Given the description of an element on the screen output the (x, y) to click on. 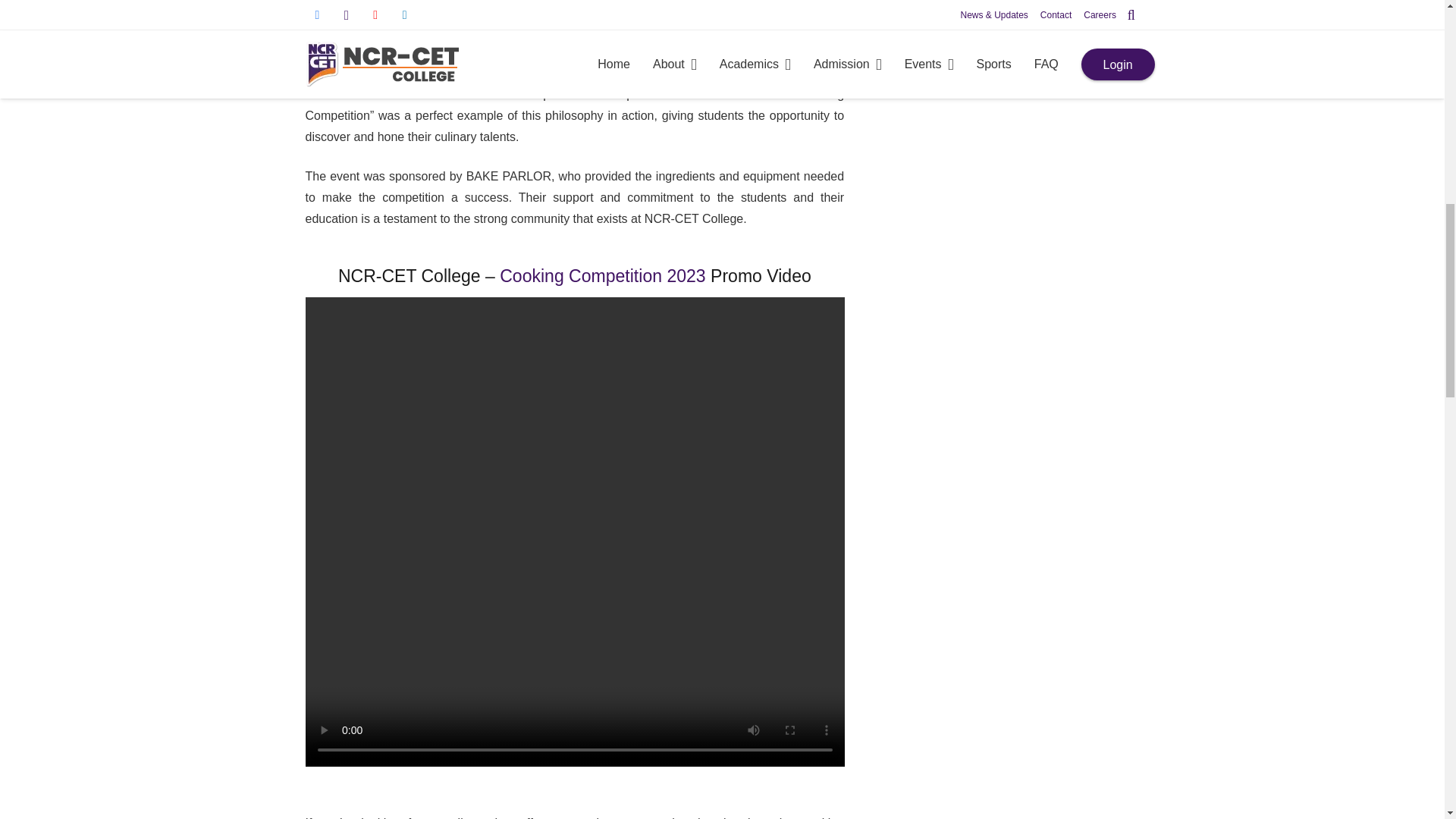
Back to top (1413, 26)
